Given the description of an element on the screen output the (x, y) to click on. 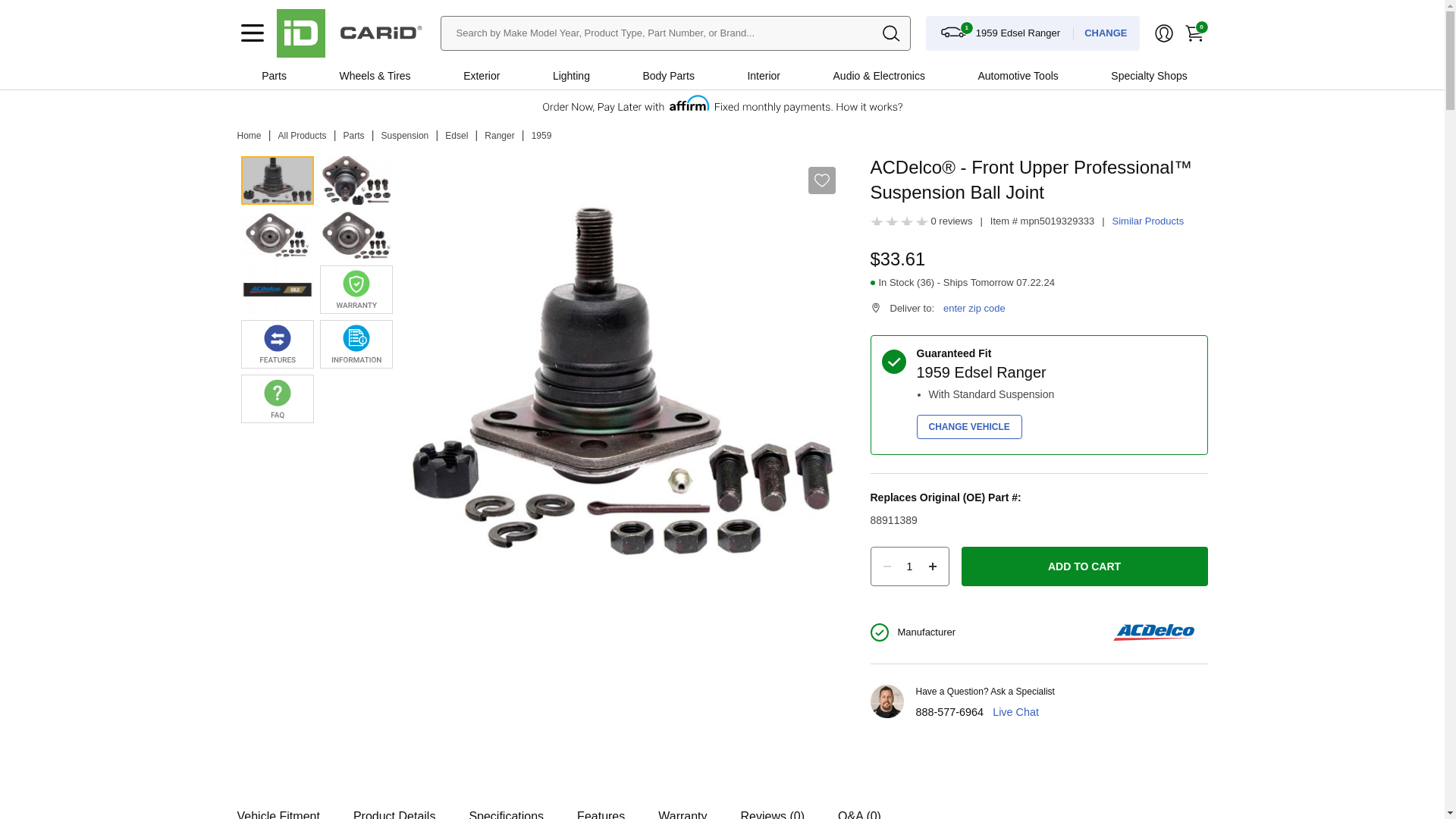
ADD TO CART (1084, 566)
Features (600, 804)
1959 (541, 135)
888-577-6964 (949, 711)
Suspension (405, 135)
Warranty (682, 804)
0 (1192, 33)
Lighting (570, 75)
Vehicle Fitment (276, 804)
Features (600, 804)
Vehicle Fitment (276, 804)
Specifications (505, 804)
Product Details (394, 804)
Automotive Tools (1017, 75)
Parts (354, 135)
